Given the description of an element on the screen output the (x, y) to click on. 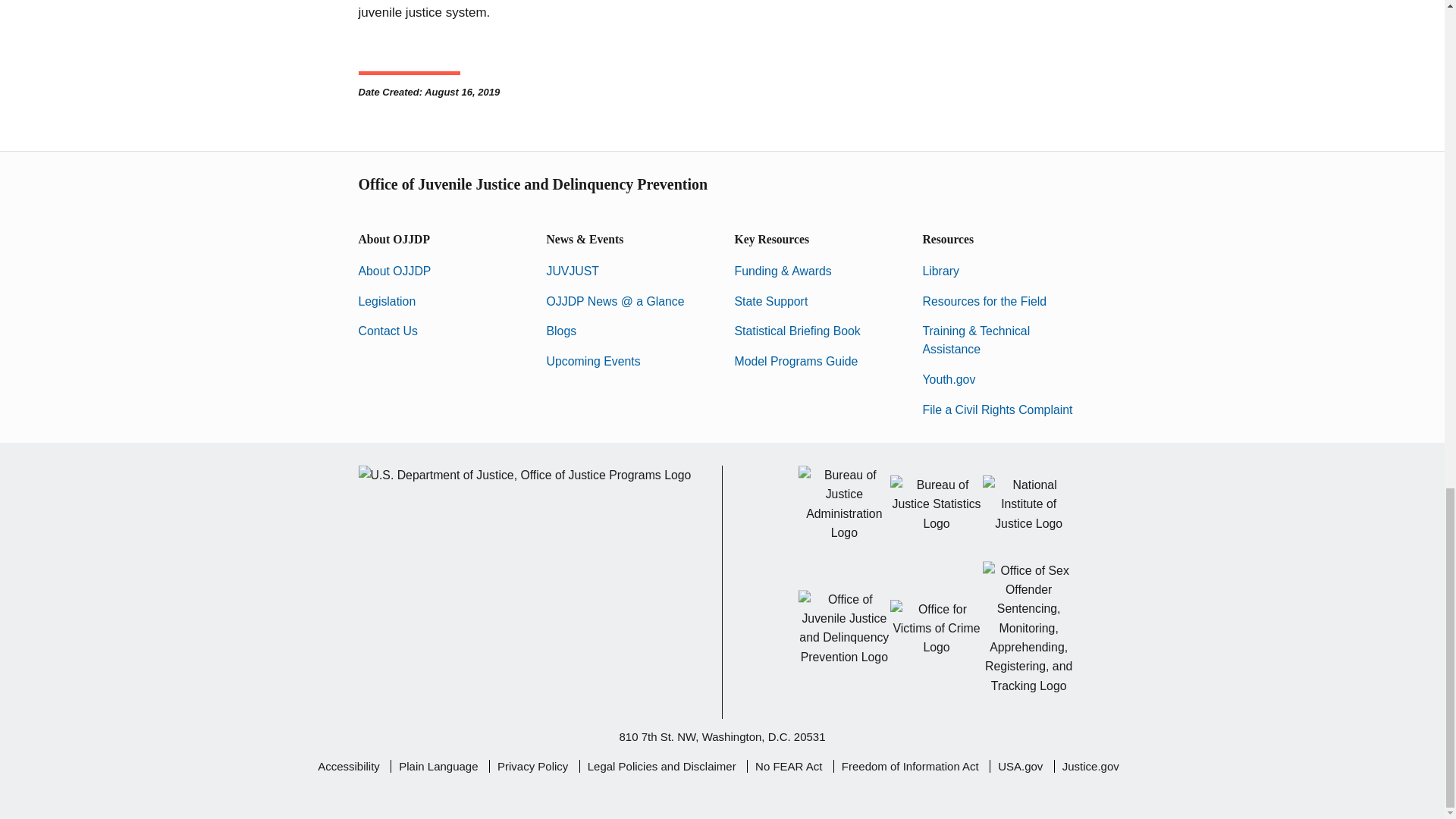
Legislation (386, 300)
About OJJDP (394, 270)
Contact Us (387, 330)
